Given the description of an element on the screen output the (x, y) to click on. 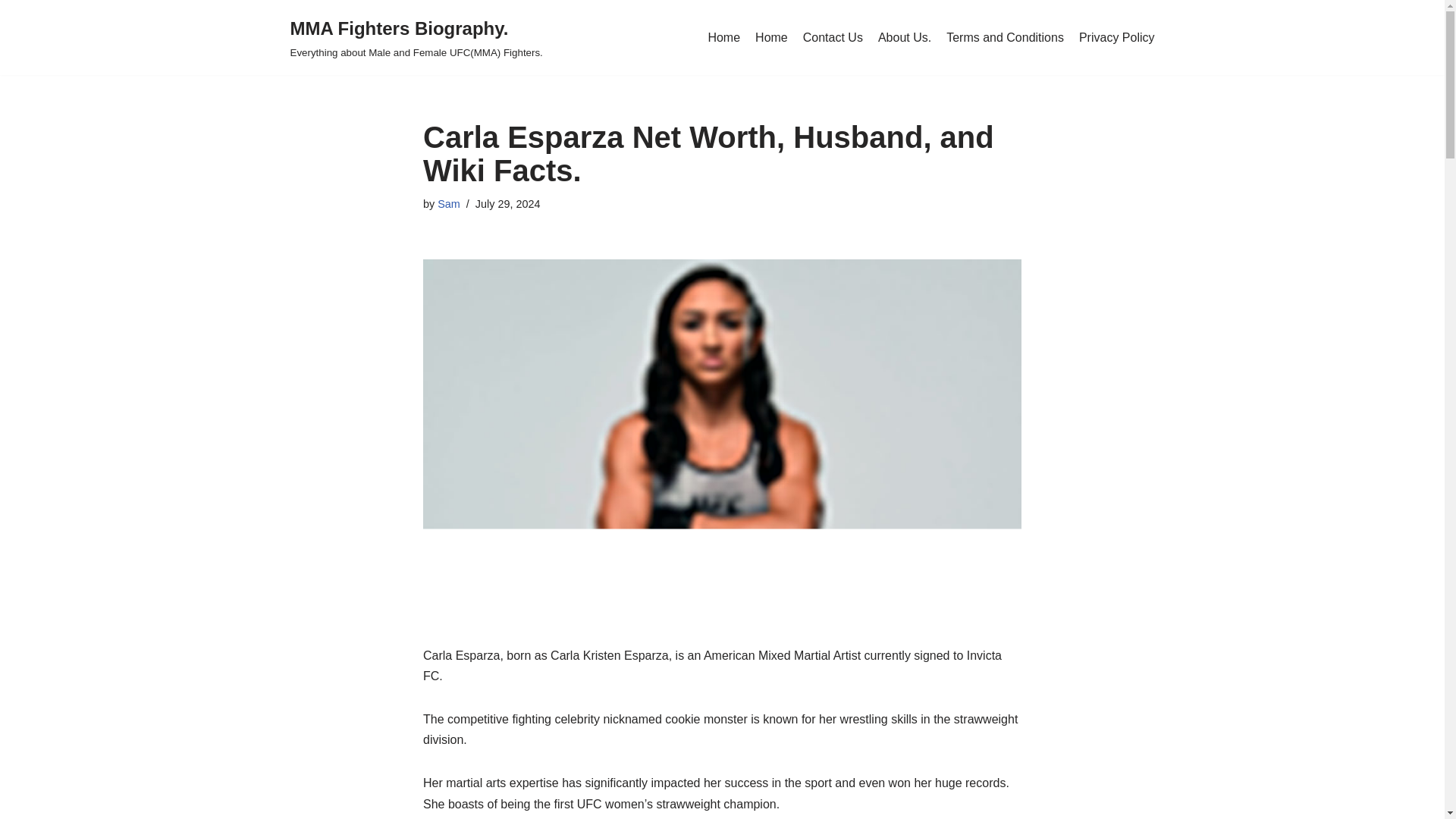
Terms and Conditions (1005, 37)
Skip to content (11, 31)
MMA Fighters Biography. (415, 37)
Privacy Policy (1116, 37)
Posts by Sam (449, 203)
Contact Us (833, 37)
Home (723, 37)
Sam (449, 203)
Home (771, 37)
About Us. (904, 37)
